Given the description of an element on the screen output the (x, y) to click on. 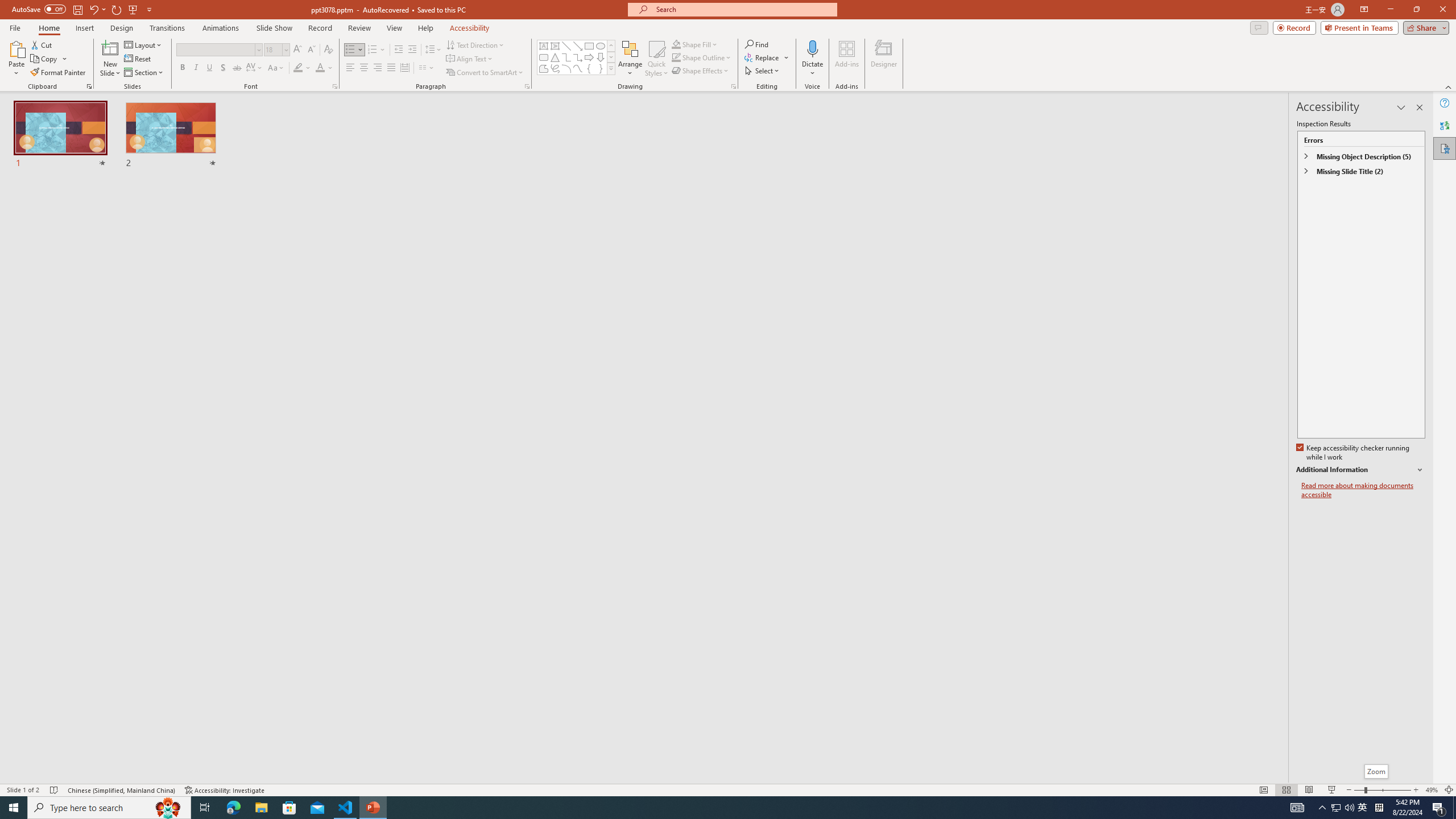
Zoom 49% (1431, 790)
